Given the description of an element on the screen output the (x, y) to click on. 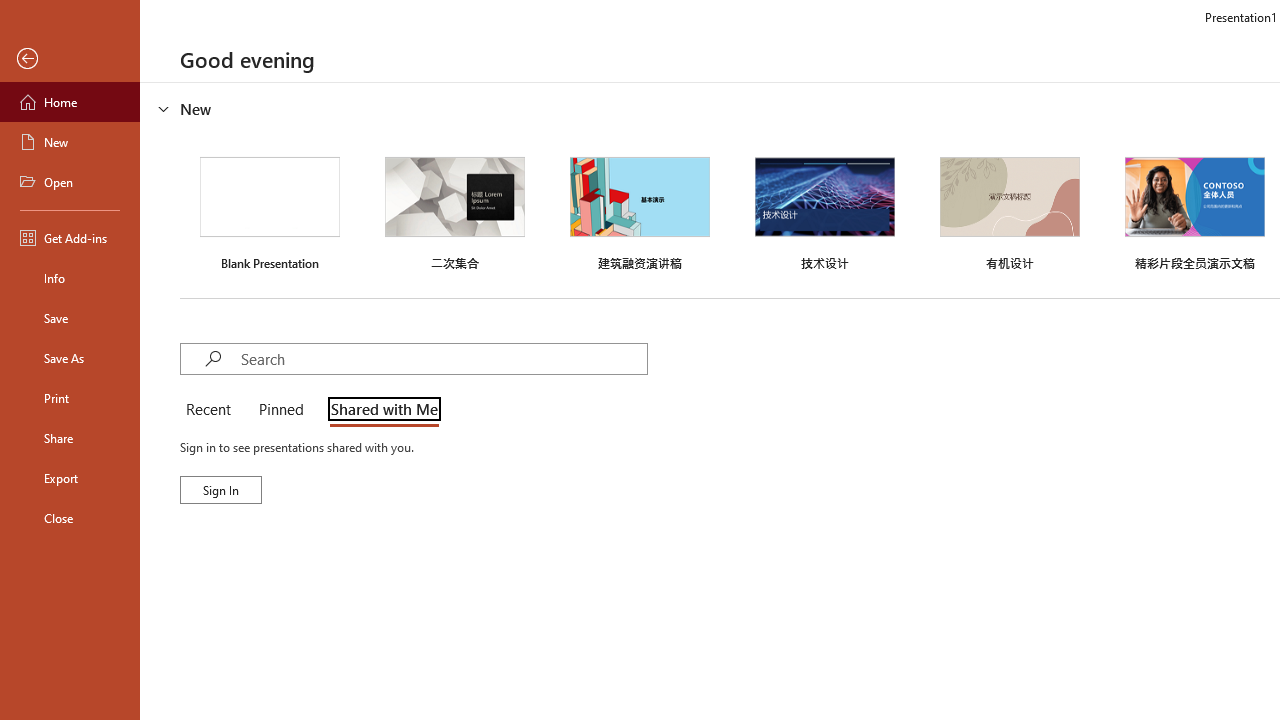
Print (69, 398)
Back (69, 59)
Get Add-ins (69, 237)
Pinned (280, 410)
